Given the description of an element on the screen output the (x, y) to click on. 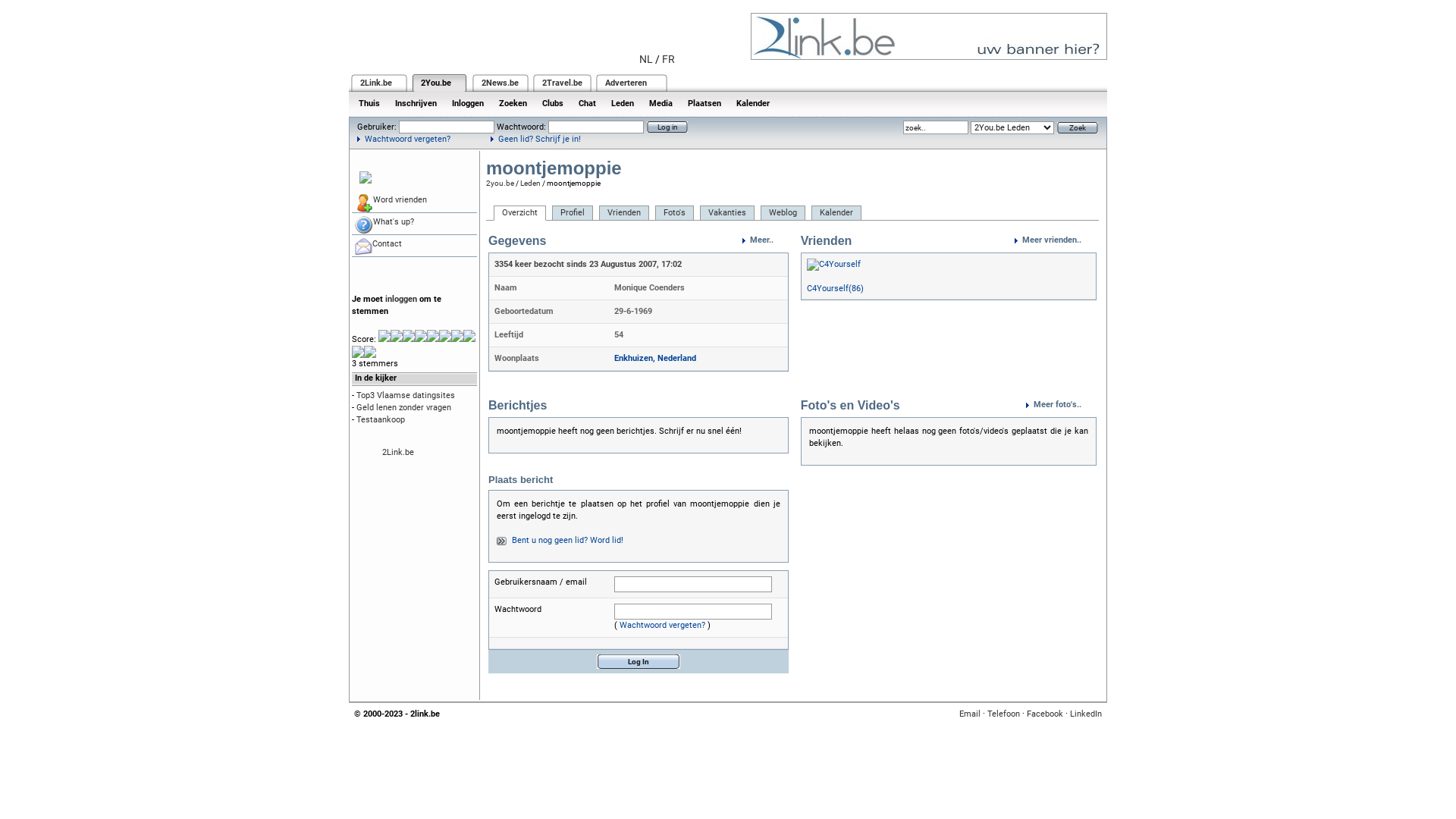
Vakanties Element type: text (726, 212)
Weblog Element type: text (782, 212)
C4Yourself(86) Element type: text (834, 288)
Testaankoop Element type: text (380, 419)
Leden Element type: text (622, 103)
Wachtwoord vergeten? Element type: text (403, 139)
Log in Element type: text (666, 126)
Kalender Element type: text (752, 103)
Telefoon Element type: text (1003, 713)
inloggen Element type: text (401, 299)
FR Element type: text (668, 59)
Leden Element type: text (530, 182)
2You.be Element type: text (435, 82)
Profiel Element type: text (572, 212)
Foto's Element type: text (674, 212)
Bent u nog geen lid? Word lid! Element type: text (567, 540)
2Link.be Element type: text (398, 452)
Zoeken Element type: text (512, 103)
Overzicht Element type: text (519, 212)
2Link.be Element type: text (376, 82)
Log In Element type: text (638, 661)
2Travel.be Element type: text (562, 82)
Email Element type: text (969, 713)
Clubs Element type: text (552, 103)
Thuis Element type: text (369, 103)
What's up? Element type: text (413, 224)
Wachtwoord vergeten? Element type: text (662, 625)
Vrienden Element type: text (624, 212)
Meer foto's.. Element type: text (1061, 404)
Geld lenen zonder vragen Element type: text (403, 407)
Plaatsen Element type: text (704, 103)
Inloggen Element type: text (467, 103)
2you.be Element type: text (500, 182)
LinkedIn Element type: text (1085, 713)
Chat Element type: text (587, 103)
Kalender Element type: text (836, 212)
Inschrijven Element type: text (415, 103)
Enkhuizen, Nederland Element type: text (655, 358)
Zoek Element type: text (1077, 126)
Meer vrienden.. Element type: text (1055, 240)
Facebook Element type: text (1044, 713)
Adverteren Element type: text (625, 82)
NL Element type: text (645, 59)
Top3 Vlaamse datingsites Element type: text (405, 395)
Geen lid? Schrijf je in! Element type: text (535, 139)
2News.be Element type: text (499, 82)
Media Element type: text (660, 103)
Contact Element type: text (413, 246)
Meer.. Element type: text (765, 240)
Word vrienden Element type: text (413, 202)
